Given the description of an element on the screen output the (x, y) to click on. 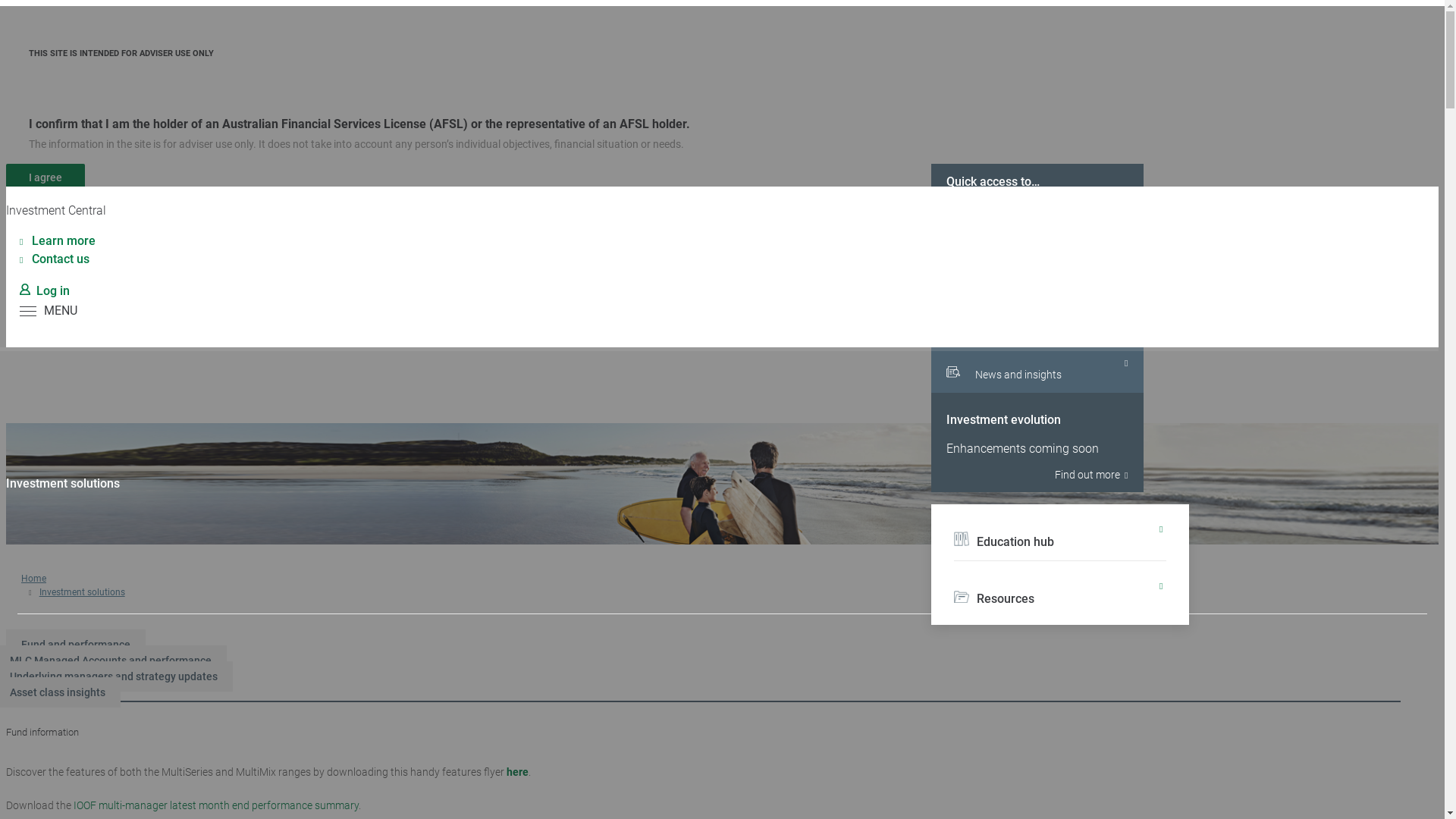
I agree Element type: text (45, 177)
here Element type: text (517, 771)
Under the bonnet Element type: text (1037, 272)
Log in Element type: text (44, 290)
News and insights Element type: text (1037, 369)
Find out more Element type: text (1037, 475)
Investment dashboard Element type: text (1037, 320)
Home Element type: text (33, 578)
Fund and performance Element type: text (75, 644)
Portfolio tools and calculators Element type: text (1037, 224)
Learn more Element type: text (57, 240)
IOOF multi-manager latest month end performance summary Element type: text (215, 805)
Contact us Element type: text (54, 258)
Investment solutions Element type: text (82, 591)
Investment Central Element type: text (56, 210)
